Given the description of an element on the screen output the (x, y) to click on. 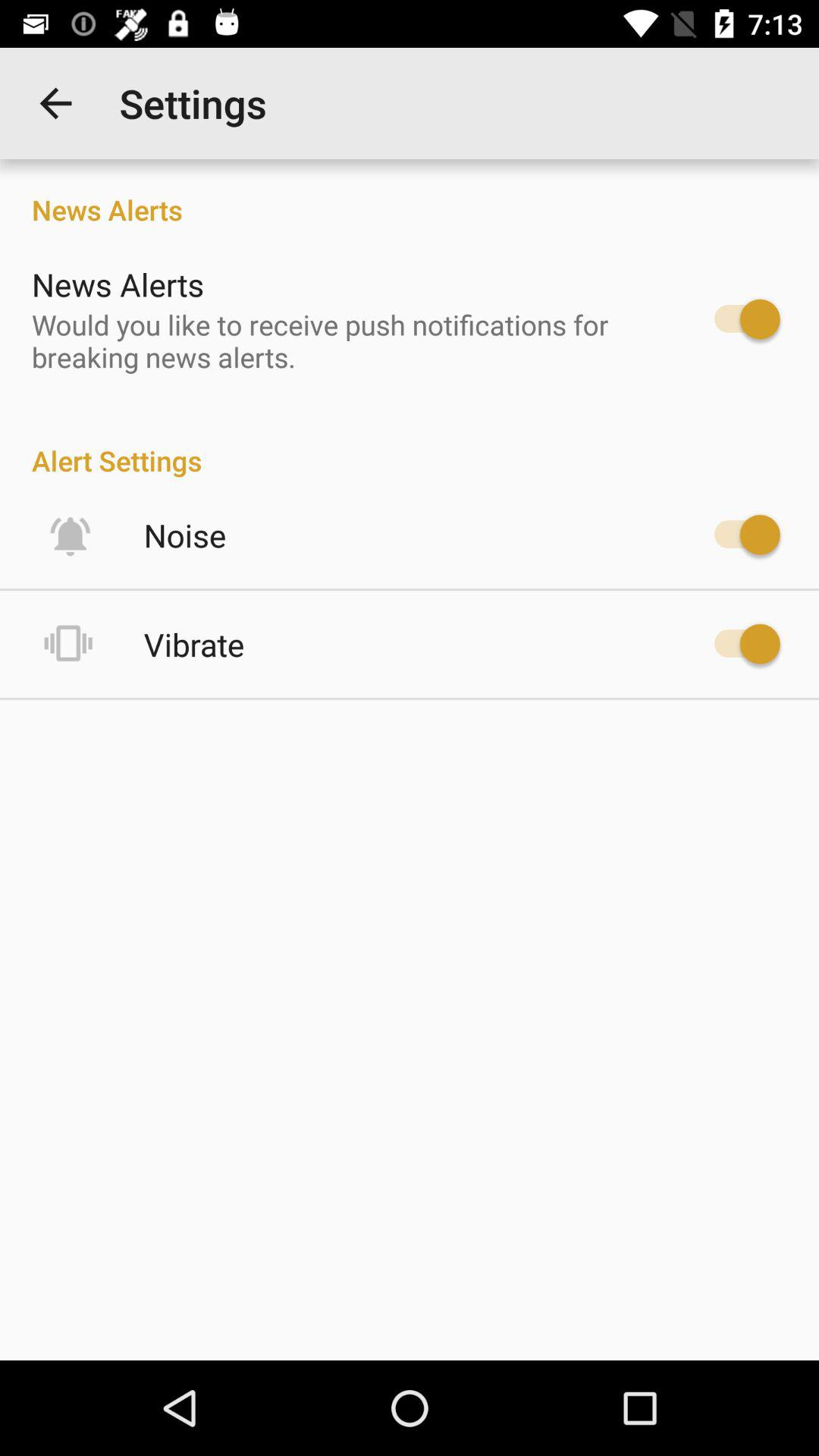
click item above alert settings (345, 340)
